Given the description of an element on the screen output the (x, y) to click on. 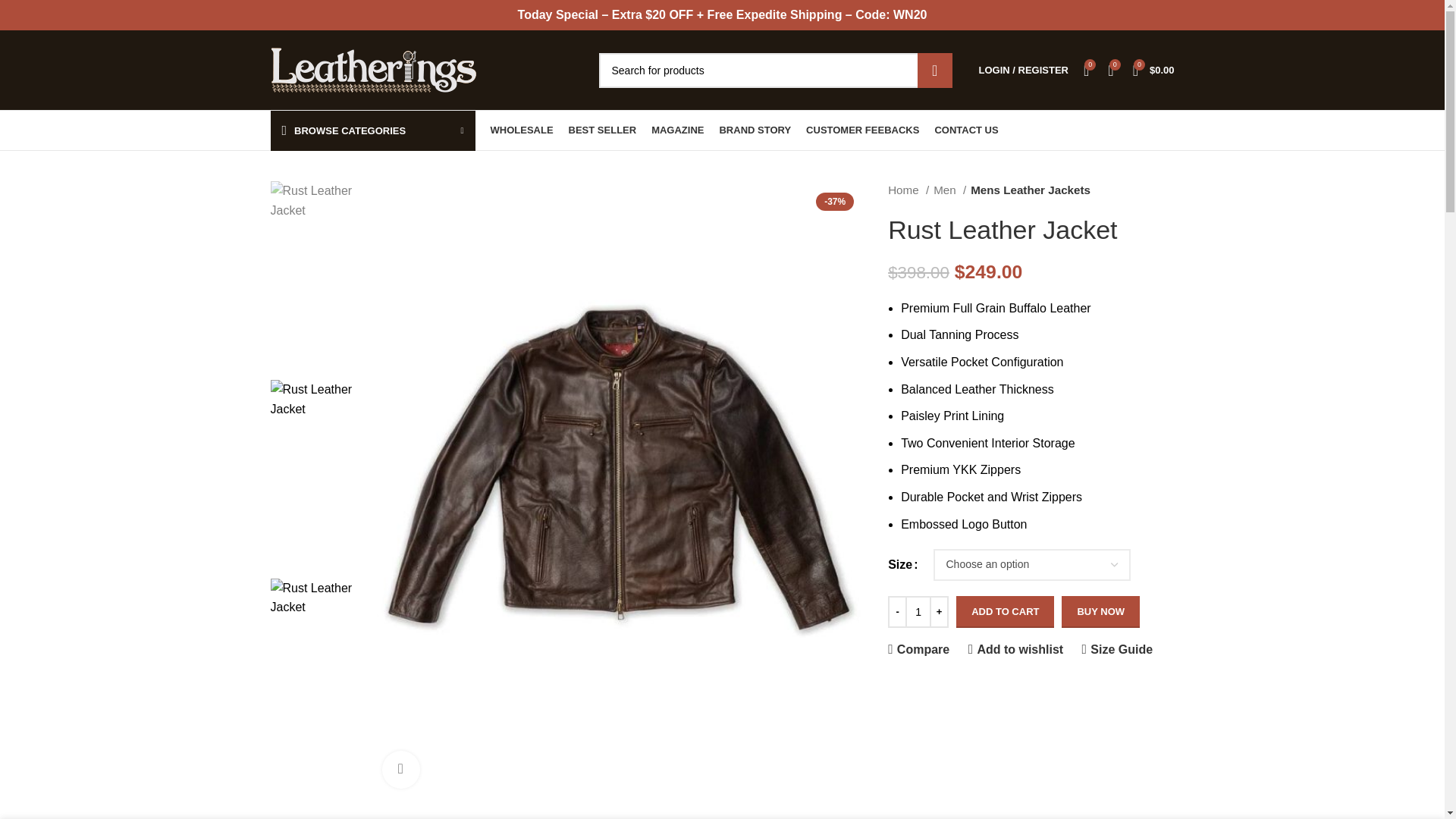
My account (1023, 69)
SEARCH (934, 70)
Search for products (775, 70)
Shopping cart (1153, 69)
